Given the description of an element on the screen output the (x, y) to click on. 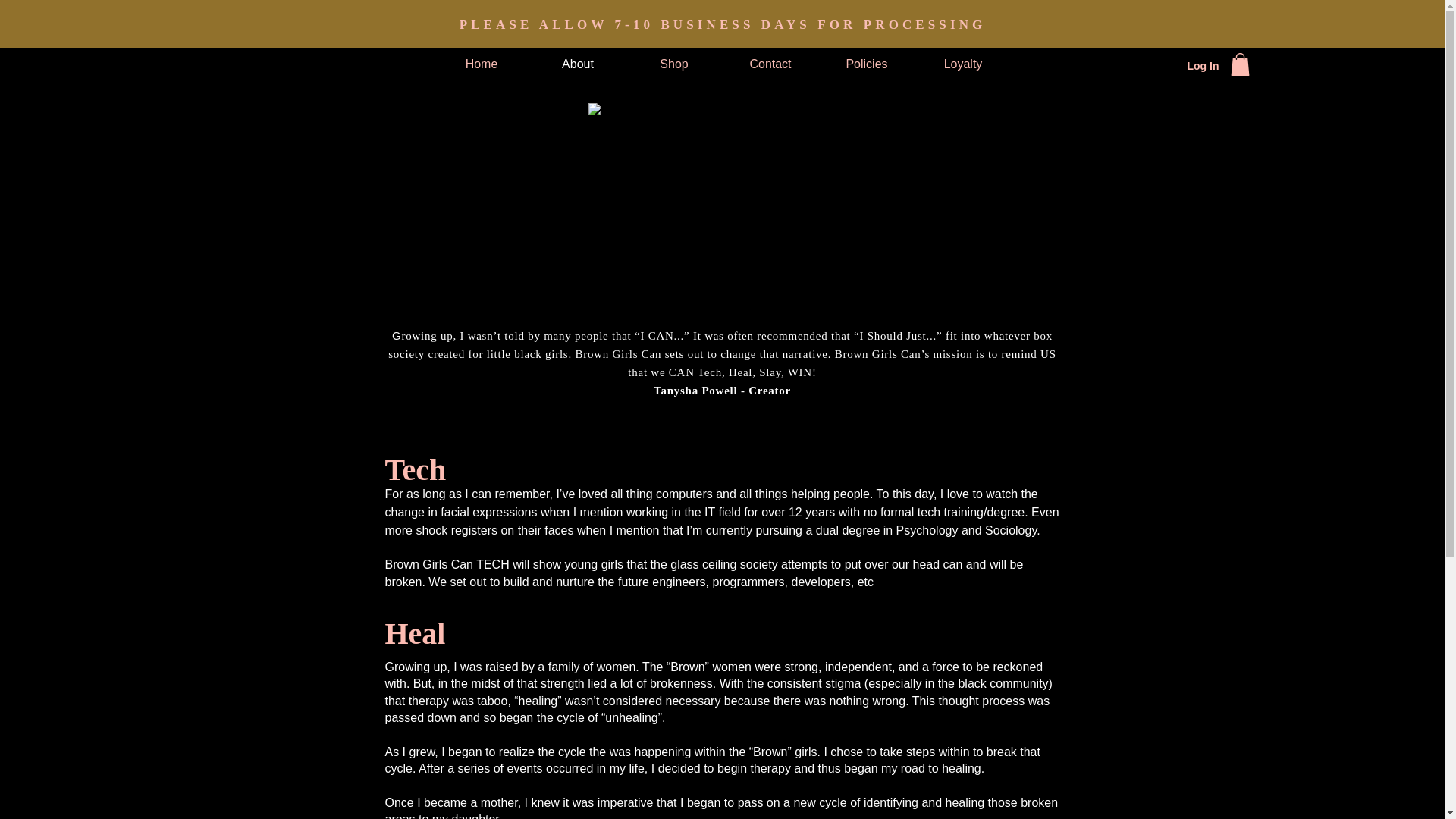
Policies (866, 63)
Contact (770, 63)
Home (481, 63)
About (577, 63)
Log In (1203, 66)
Shop (674, 63)
Loyalty (962, 63)
